Given the description of an element on the screen output the (x, y) to click on. 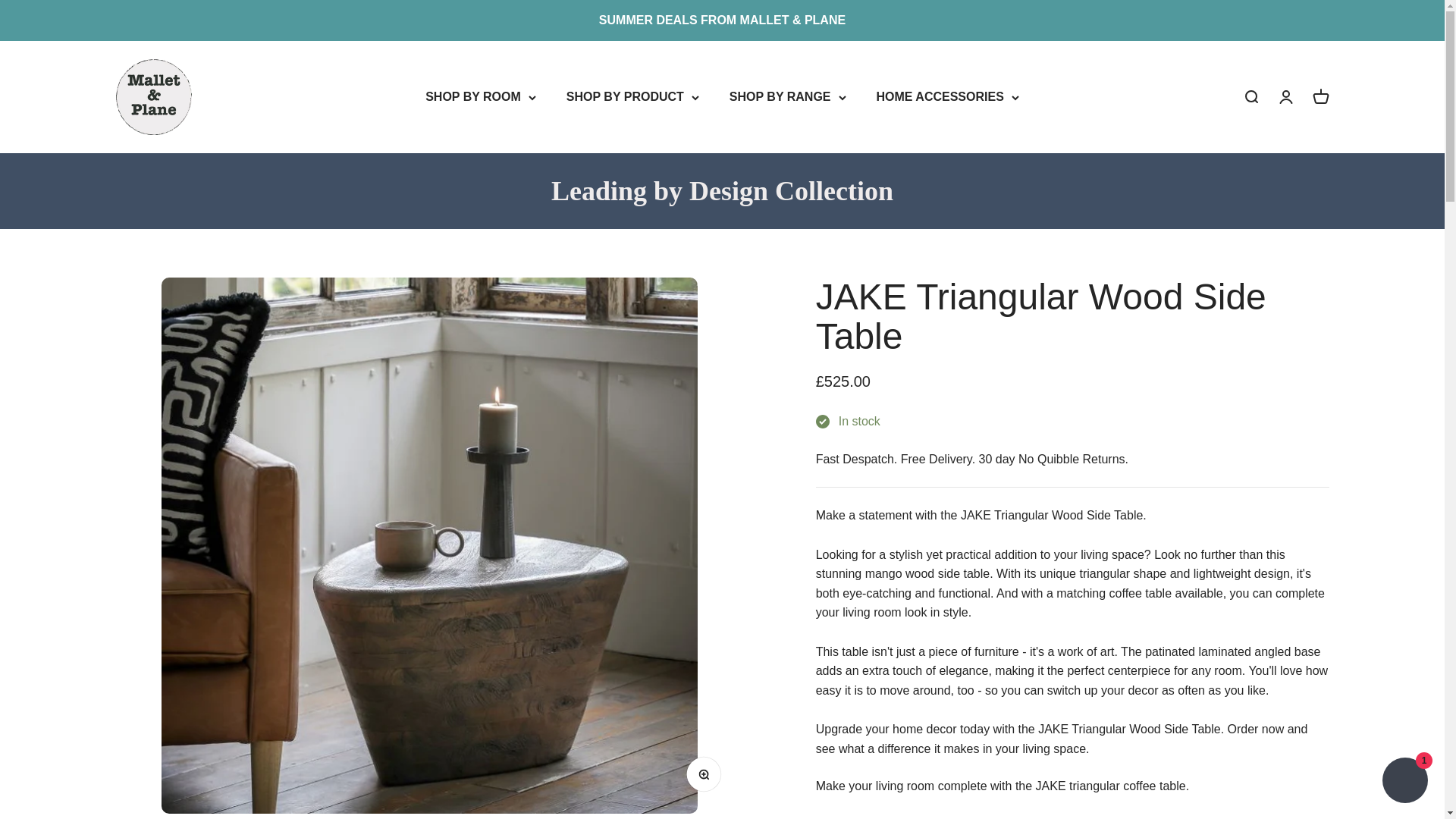
Shopify online store chat (1404, 781)
